Given the description of an element on the screen output the (x, y) to click on. 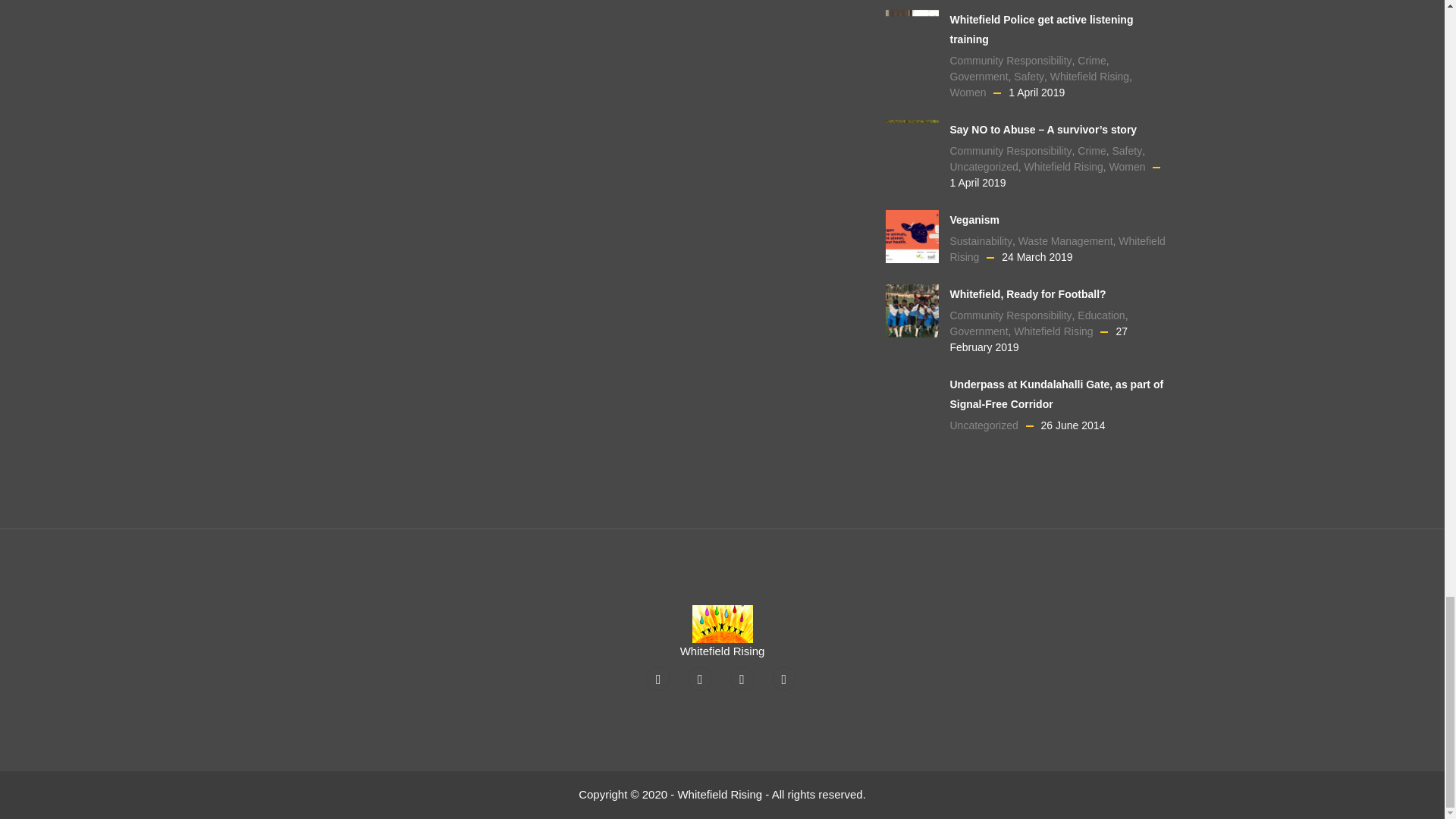
wr-logo-footer (721, 623)
